Given the description of an element on the screen output the (x, y) to click on. 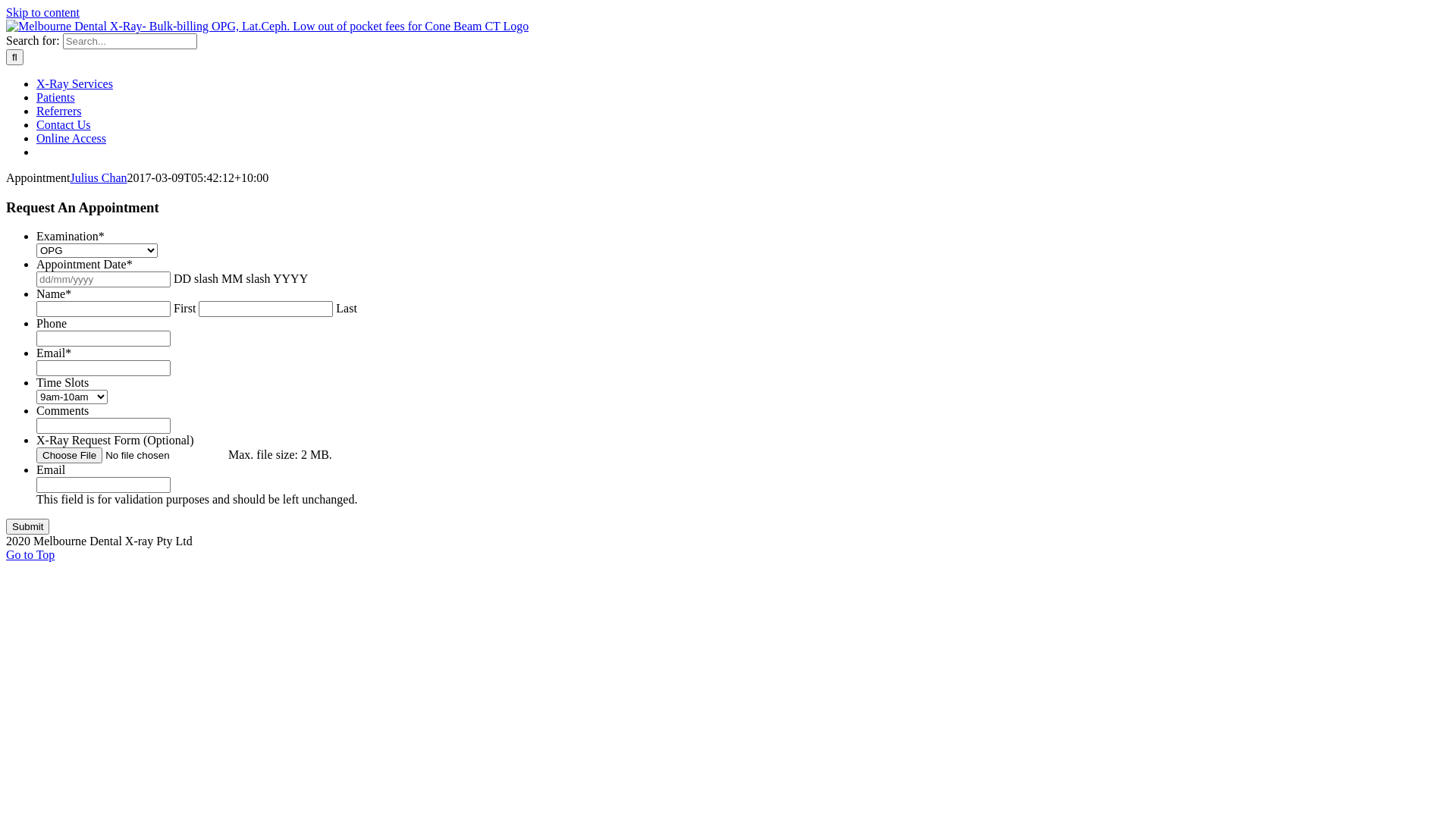
Julius Chan Element type: text (97, 177)
X-Ray Services Element type: text (74, 83)
Referrers Element type: text (58, 110)
Go to Top Element type: text (30, 554)
Submit Element type: text (27, 526)
Contact Us Element type: text (63, 124)
Skip to content Element type: text (42, 12)
Online Access Element type: text (71, 137)
Patients Element type: text (55, 97)
